Given the description of an element on the screen output the (x, y) to click on. 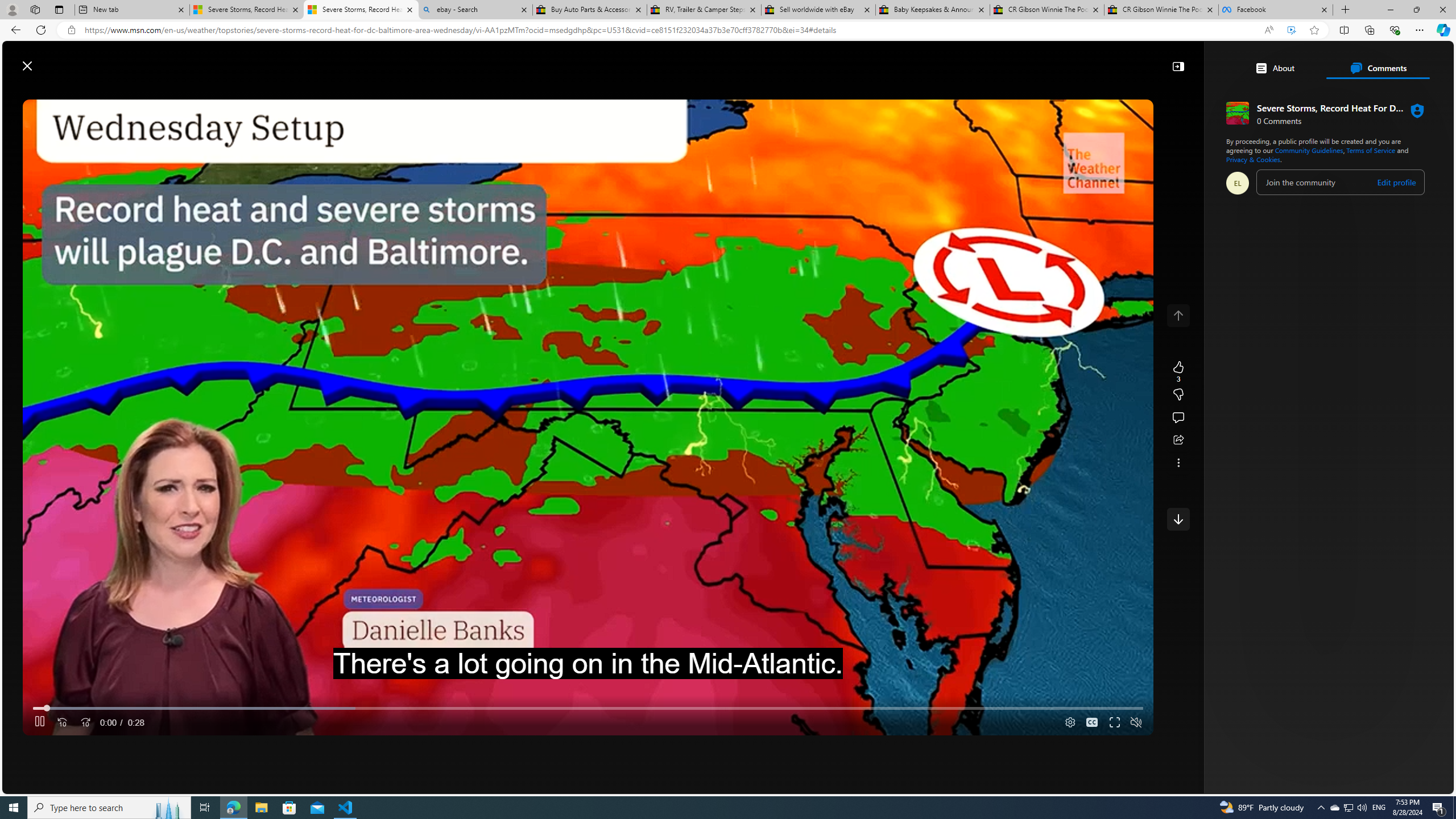
ebay - Search (475, 9)
RV, Trailer & Camper Steps & Ladders for sale | eBay (703, 9)
Skip to footer (46, 59)
Watch (421, 92)
Personalize (1132, 92)
Class: control icon-only (1178, 315)
More like this3Fewer like thisStart the conversation (1178, 394)
